Given the description of an element on the screen output the (x, y) to click on. 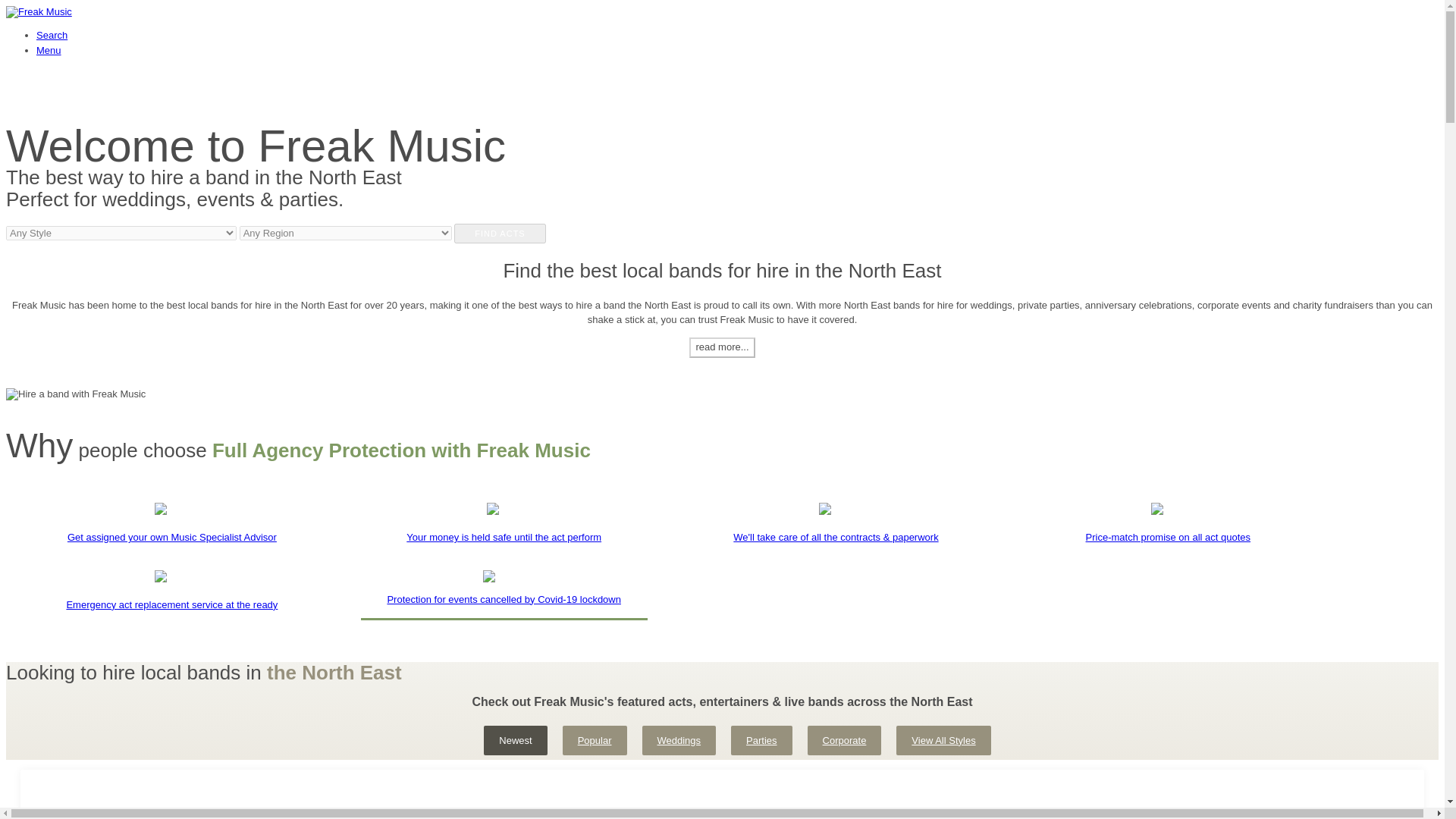
Corporate (845, 740)
read more... (721, 347)
Protection for events cancelled by Covid-19 lockdown (503, 600)
FIND ACTS (499, 233)
Search (51, 34)
Menu (48, 49)
Popular (594, 740)
Your money is held safe until the act perform (503, 528)
View All Styles (943, 740)
Get assigned your own Music Specialist Advisor (171, 528)
